Given the description of an element on the screen output the (x, y) to click on. 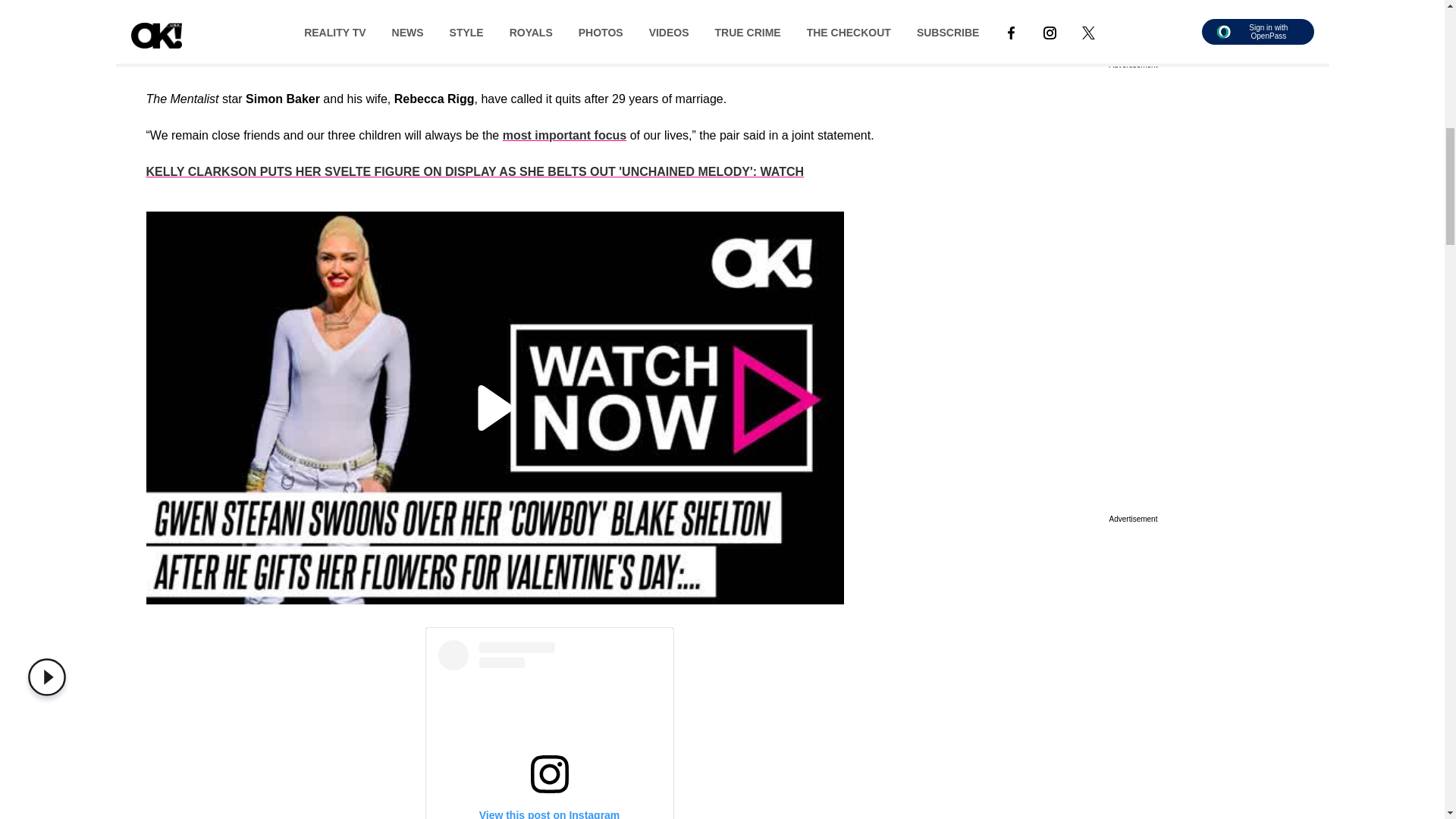
most important focus (564, 134)
